Given the description of an element on the screen output the (x, y) to click on. 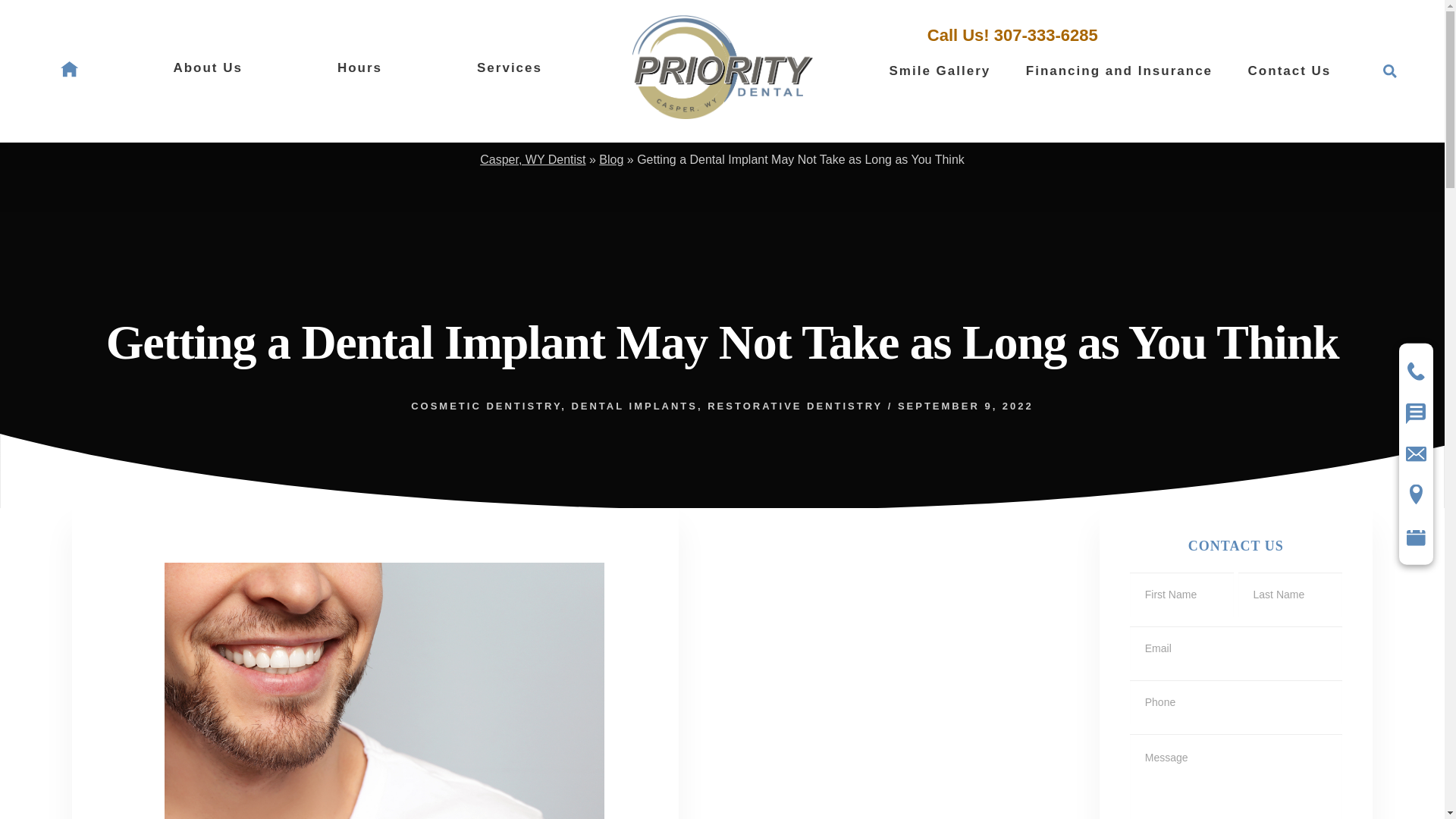
Financing and Insurance (1119, 71)
About Us (207, 67)
teeth implants Casper (383, 725)
Smile Gallery (940, 71)
Hours (359, 67)
Call Us! 307-333-6285 (1012, 35)
